Given the description of an element on the screen output the (x, y) to click on. 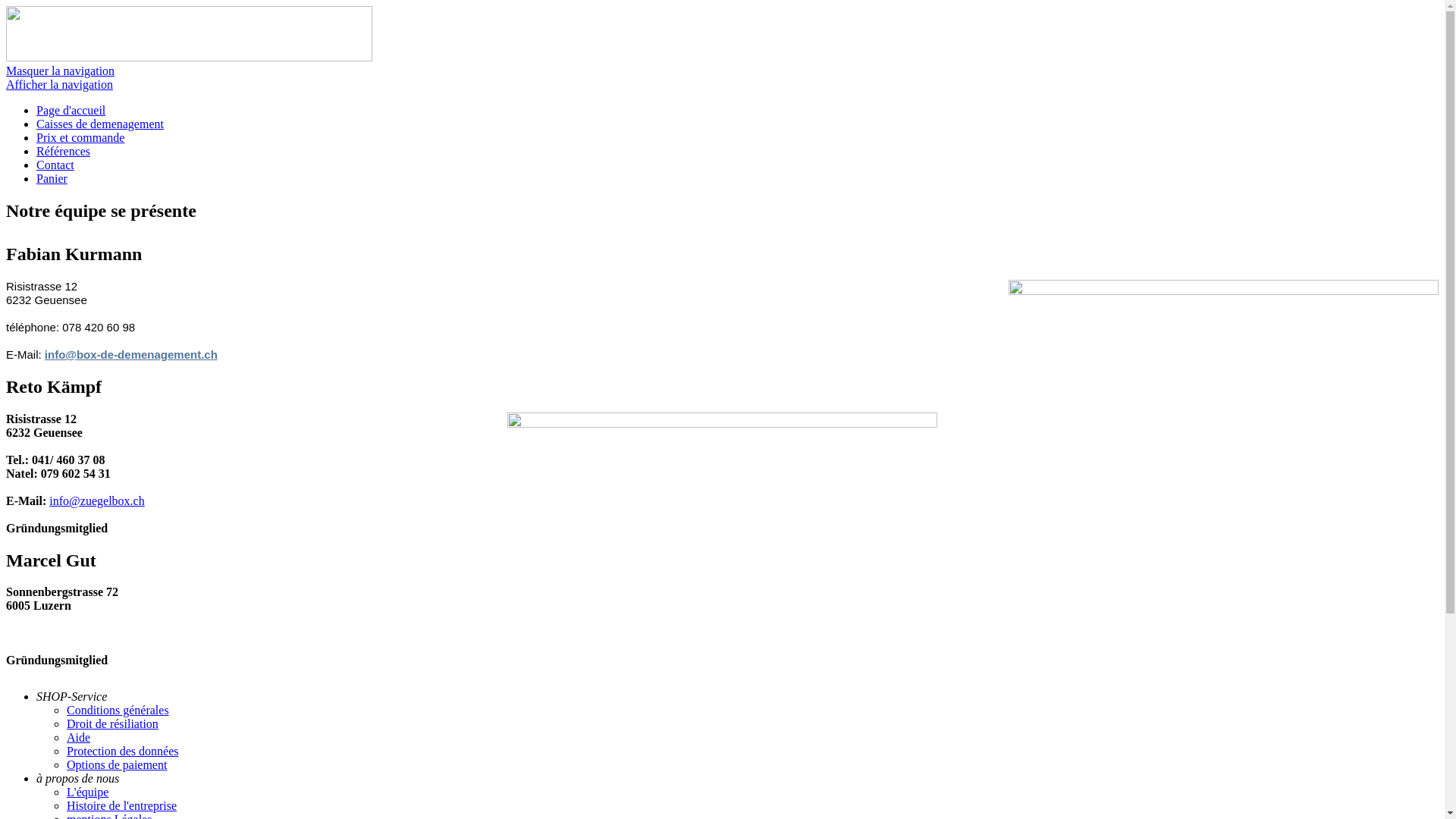
Panier Element type: text (51, 178)
Aide Element type: text (78, 737)
Prix et commande Element type: text (80, 137)
info@zuegelbox.ch Element type: text (96, 500)
Afficher la navigation Element type: text (59, 84)
Histoire de l'entreprise Element type: text (121, 805)
Contact Element type: text (55, 164)
Caisses de demenagement Element type: text (99, 123)
Masquer la navigation Element type: text (60, 70)
Options de paiement Element type: text (116, 764)
Page d'accueil Element type: text (70, 109)
